Given the description of an element on the screen output the (x, y) to click on. 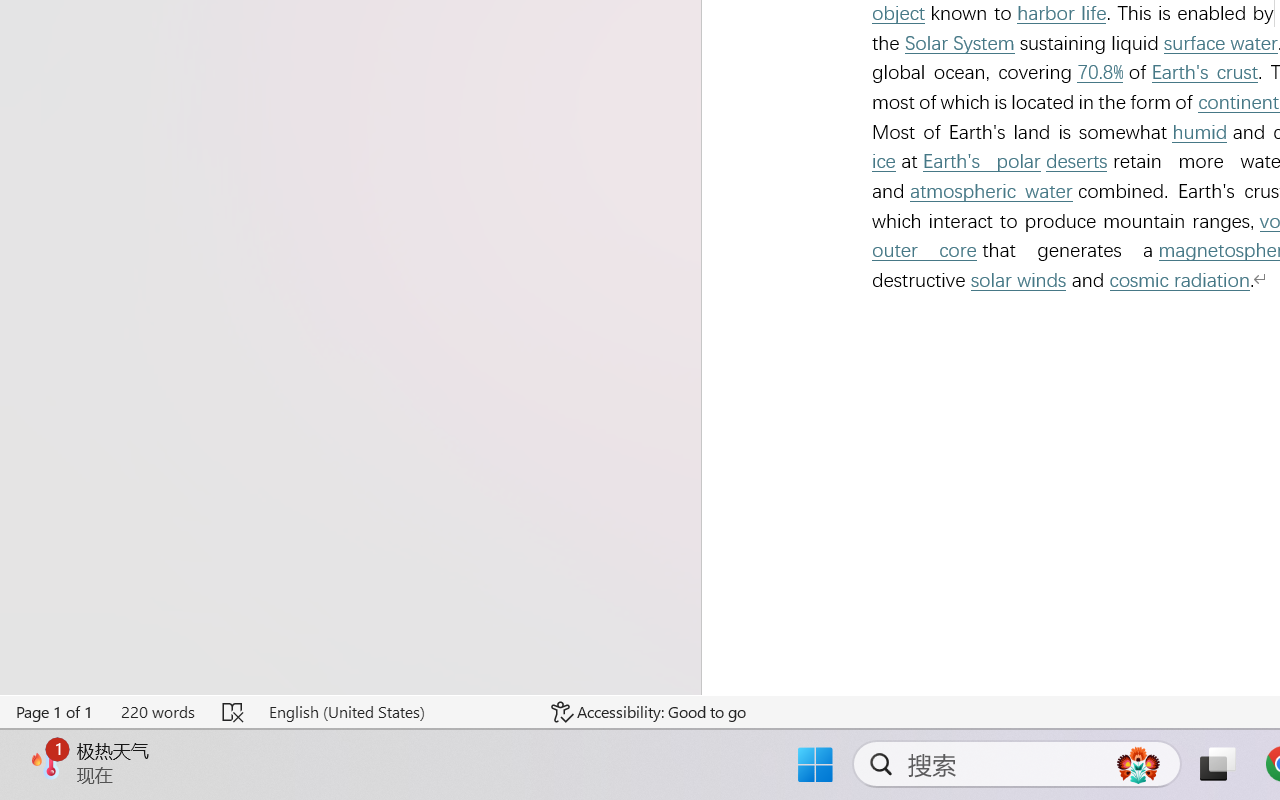
surface water (1220, 43)
atmospheric water (991, 190)
humid (1199, 132)
Spelling and Grammar Check Errors (234, 712)
Earth's polar (981, 161)
cosmic radiation (1179, 280)
Solar System (959, 43)
Earth's crust (1205, 72)
